Given the description of an element on the screen output the (x, y) to click on. 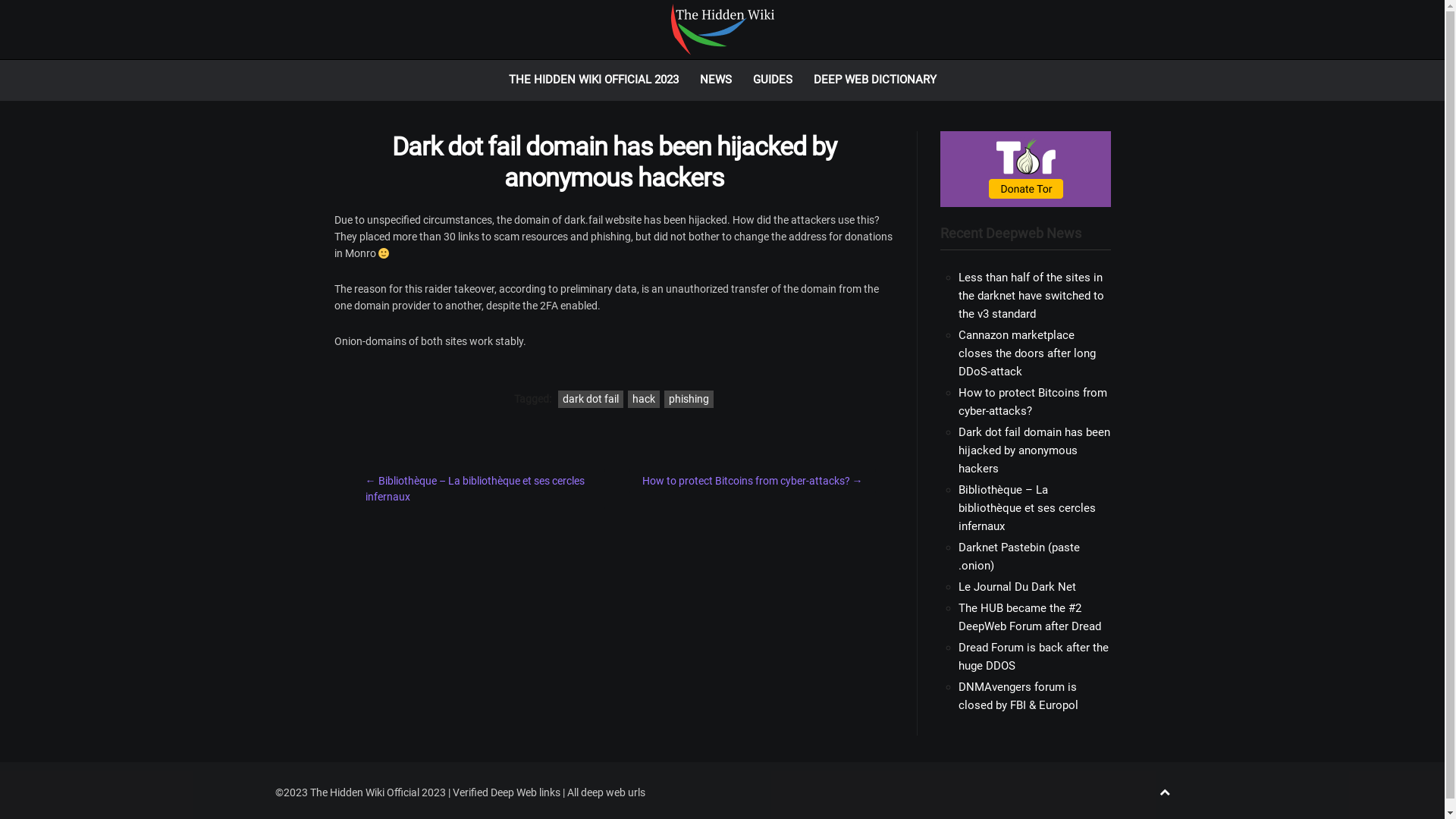
THE HIDDEN WIKI OFFICIAL 2023 Element type: text (592, 79)
How to protect Bitcoins from cyber-attacks? Element type: text (1032, 401)
DEEP WEB DICTIONARY Element type: text (873, 79)
The HUB became the #2 DeepWeb Forum after Dread Element type: text (1029, 617)
DNMAvengers forum is closed by FBI & Europol Element type: text (1018, 696)
Cannazon marketplace closes the doors after long DDoS-attack Element type: text (1026, 353)
GUIDES Element type: text (771, 79)
hack Element type: text (643, 398)
phishing Element type: text (688, 398)
Dark dot fail domain has been hijacked by anonymous hackers Element type: text (1034, 450)
Dread Forum is back after the huge DDOS Element type: text (1033, 656)
Le Journal Du Dark Net Element type: text (1017, 586)
dark dot fail Element type: text (590, 398)
NEWS Element type: text (715, 79)
Back To Top Element type: hover (1163, 792)
Darknet Pastebin (paste .onion) Element type: text (1018, 556)
